Given the description of an element on the screen output the (x, y) to click on. 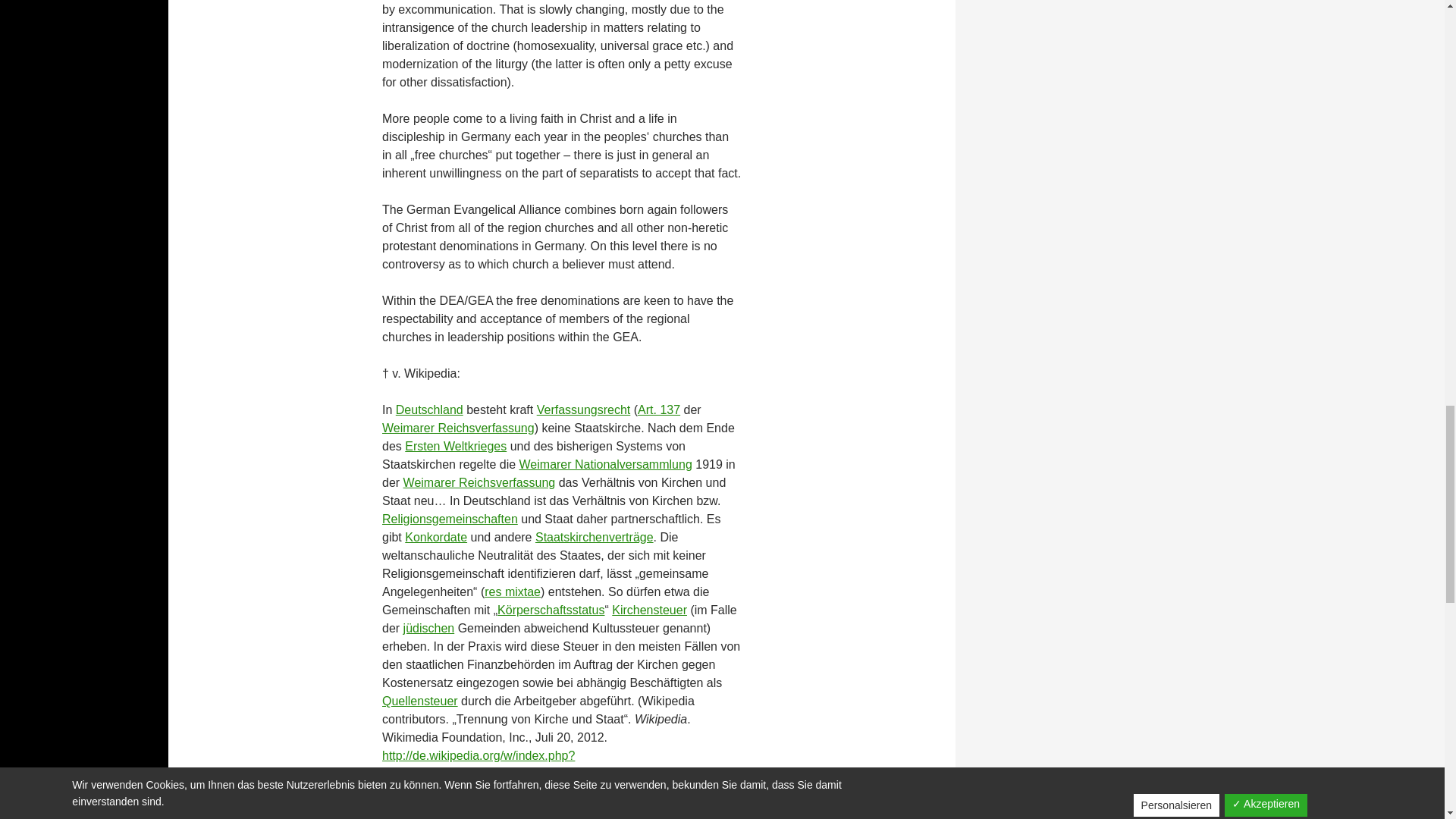
Weimarer Reichsverfassung (479, 481)
Art. 137 (658, 409)
Quellensteuer (419, 700)
Religionsgemeinschaften (449, 518)
Kirchensteuer (649, 609)
Konkordate (435, 536)
res mixtae (512, 591)
Ersten Weltkrieges (455, 445)
Weimarer Nationalversammlung (606, 463)
Weimarer Reichsverfassung (457, 427)
